Given the description of an element on the screen output the (x, y) to click on. 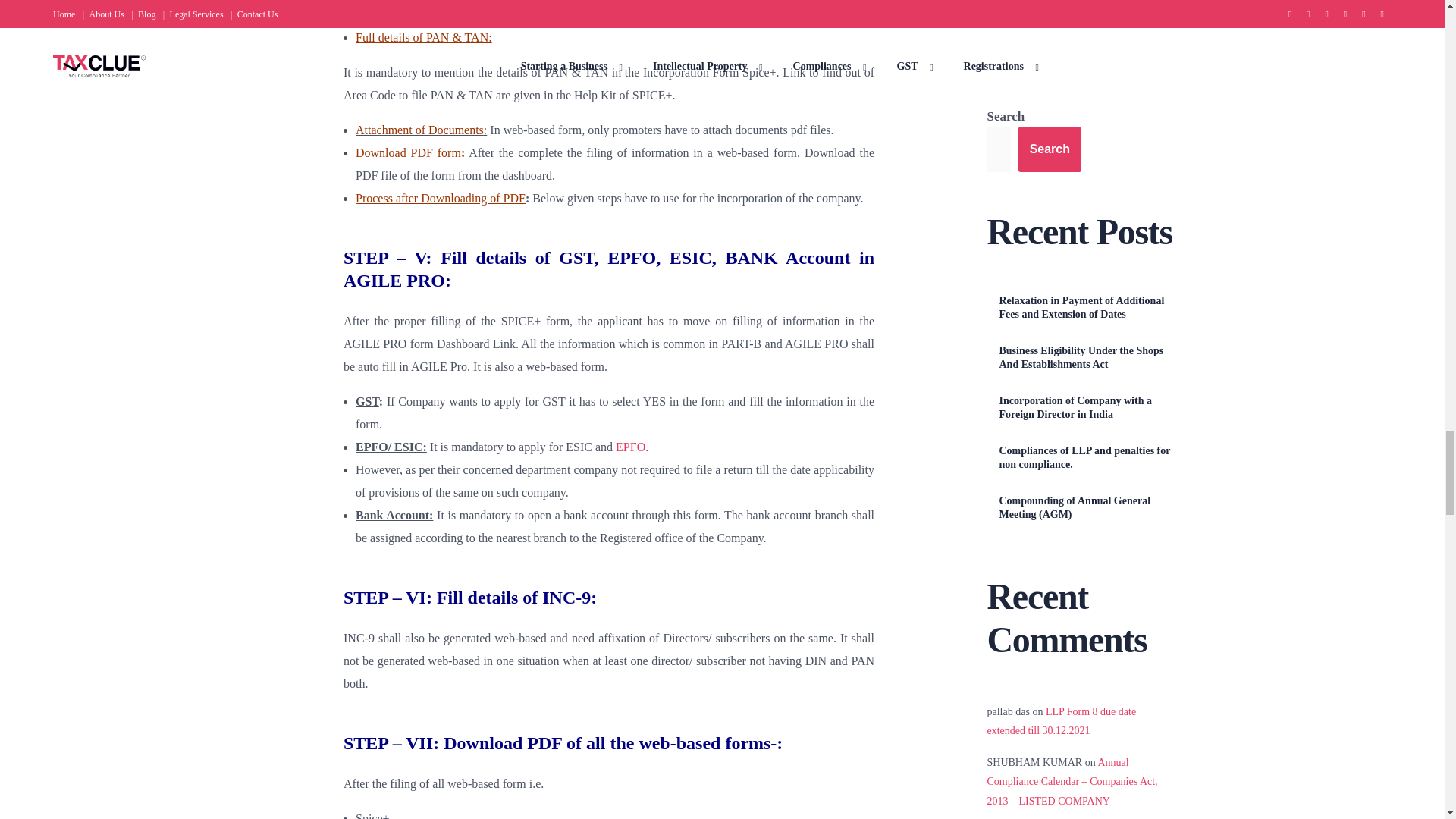
EPFO (630, 446)
